Given the description of an element on the screen output the (x, y) to click on. 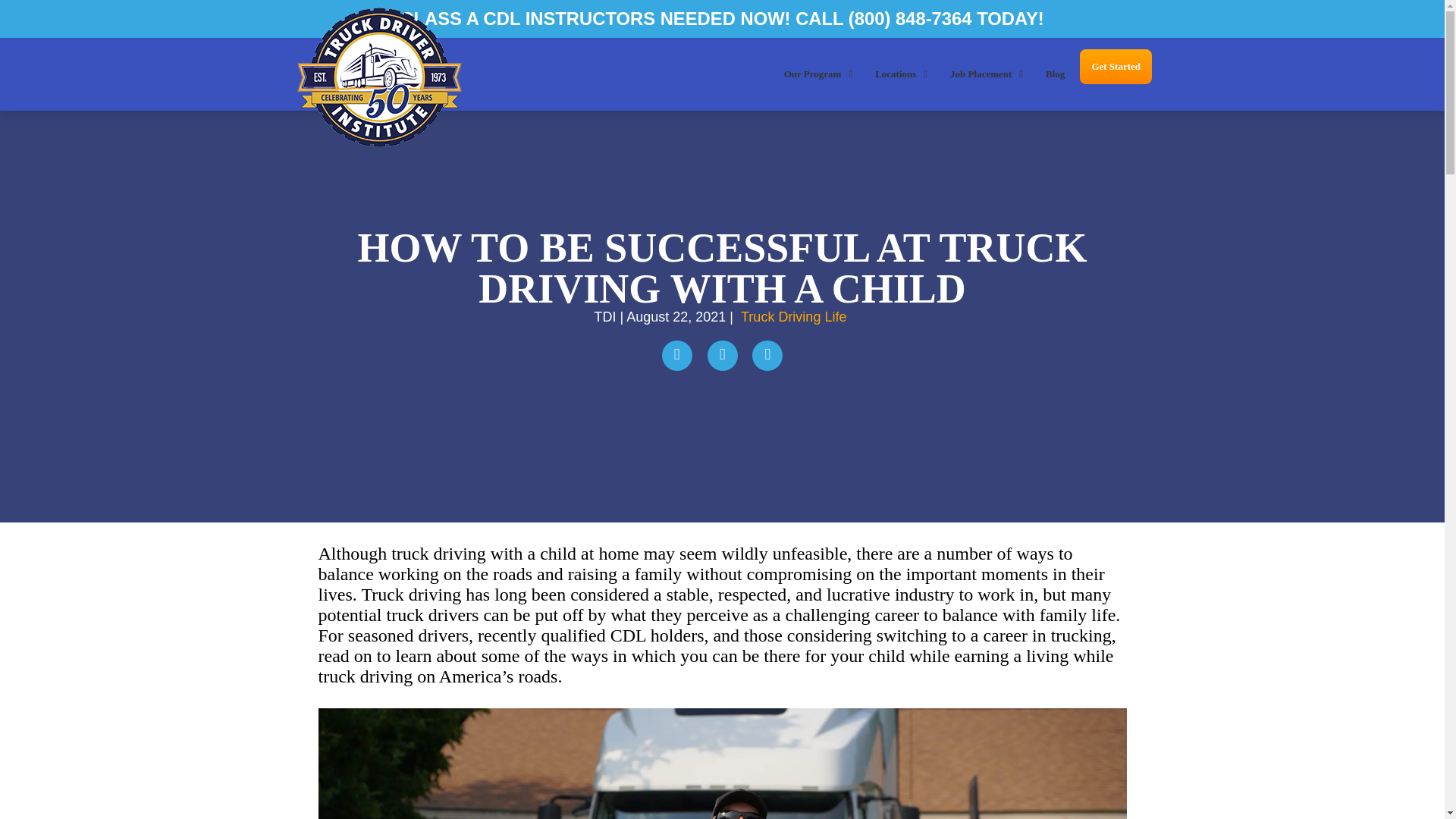
Locations (901, 73)
Job Placement (986, 73)
Our Program (818, 73)
Get Started (1115, 66)
Truck Driving Life (793, 316)
